Given the description of an element on the screen output the (x, y) to click on. 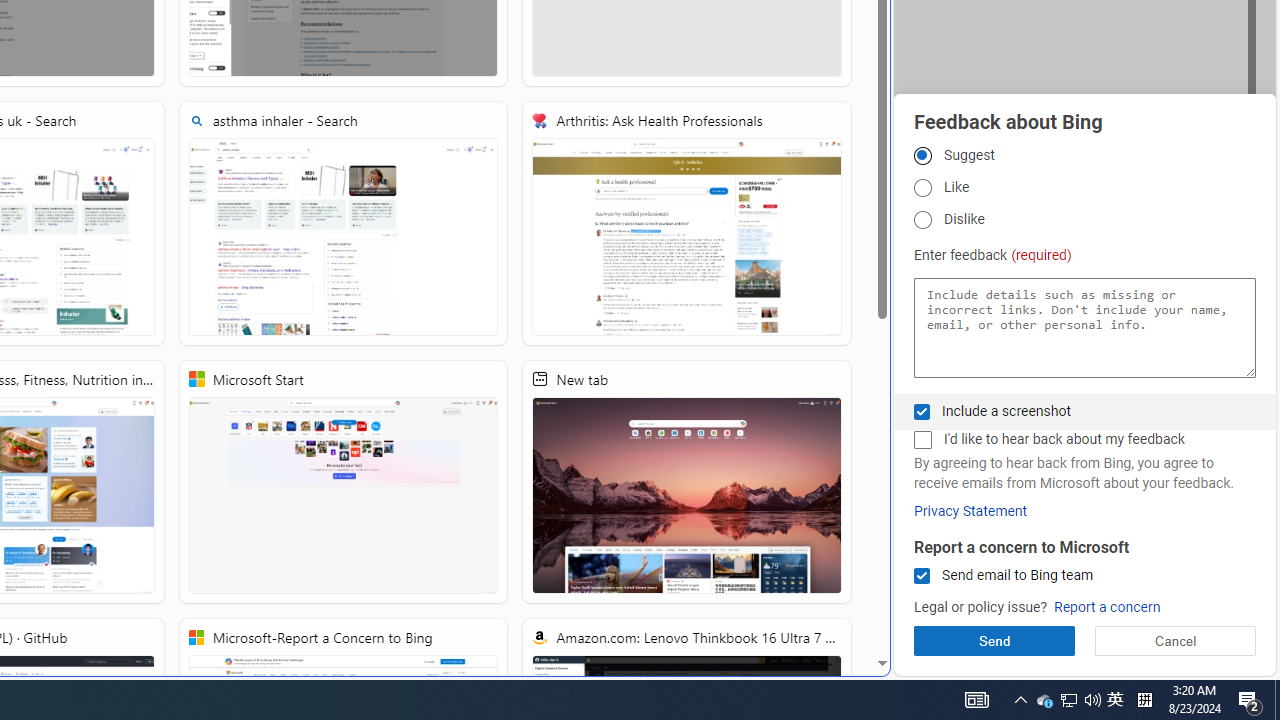
Send email to Bing team (921, 575)
I'd like to hear back about my feedback (922, 440)
asthma inhaler - Search (343, 223)
Send (994, 640)
Privacy Statement (970, 511)
Like (922, 188)
Cancel (1174, 640)
Suggest (922, 155)
Report a concern (1106, 607)
